Given the description of an element on the screen output the (x, y) to click on. 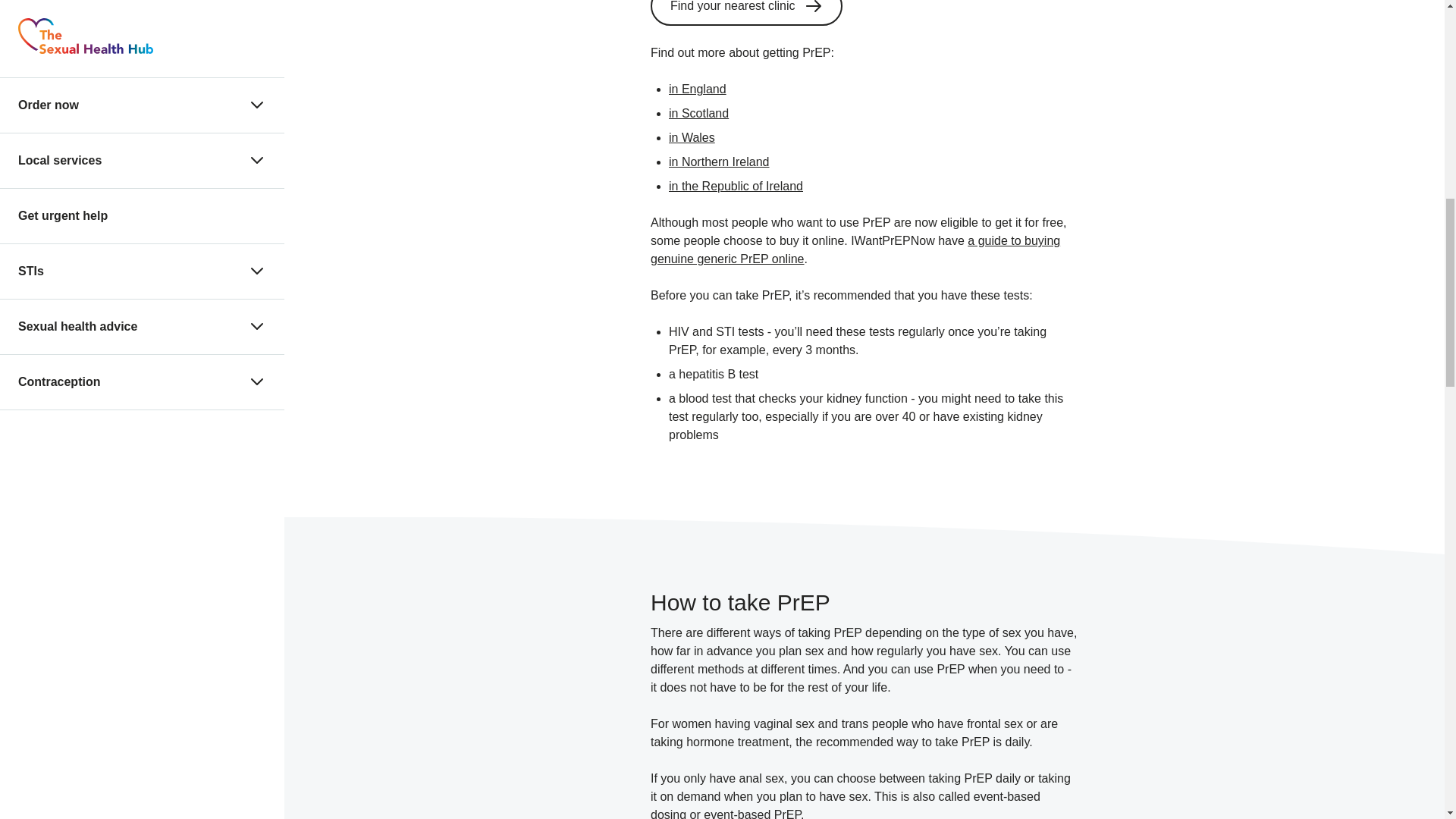
in Northern Ireland (719, 161)
in Wales (691, 137)
a guide to buying genuine generic PrEP online (854, 249)
in England (697, 88)
in Scotland (698, 113)
in the Republic of Ireland (735, 185)
Find your nearest clinic (746, 12)
